Given the description of an element on the screen output the (x, y) to click on. 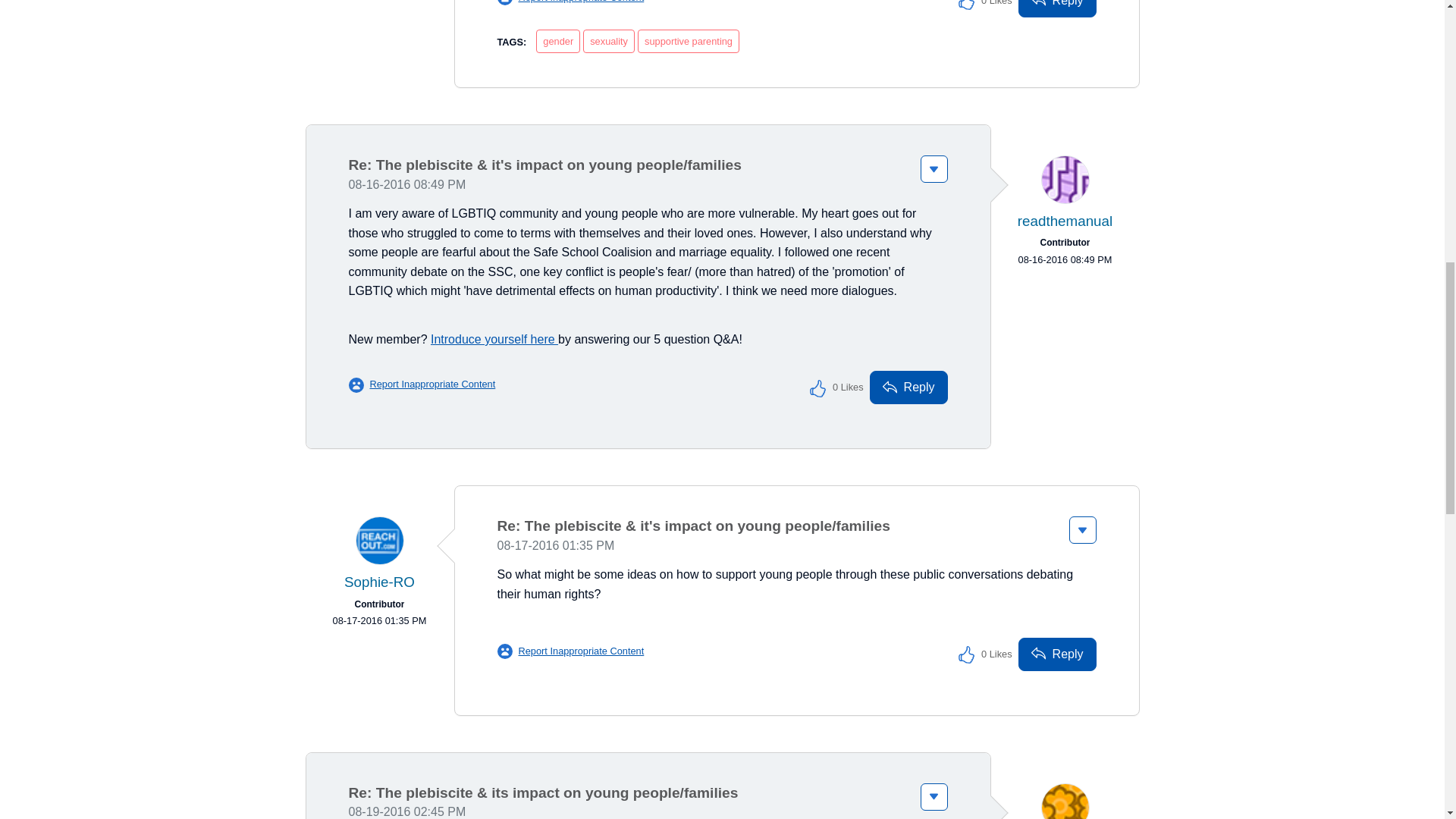
Show option menu (933, 168)
readthemanual (1065, 179)
Click here to give likes to this post. (965, 7)
Posted on (1064, 259)
The total number of likes this post has received. (996, 8)
